Given the description of an element on the screen output the (x, y) to click on. 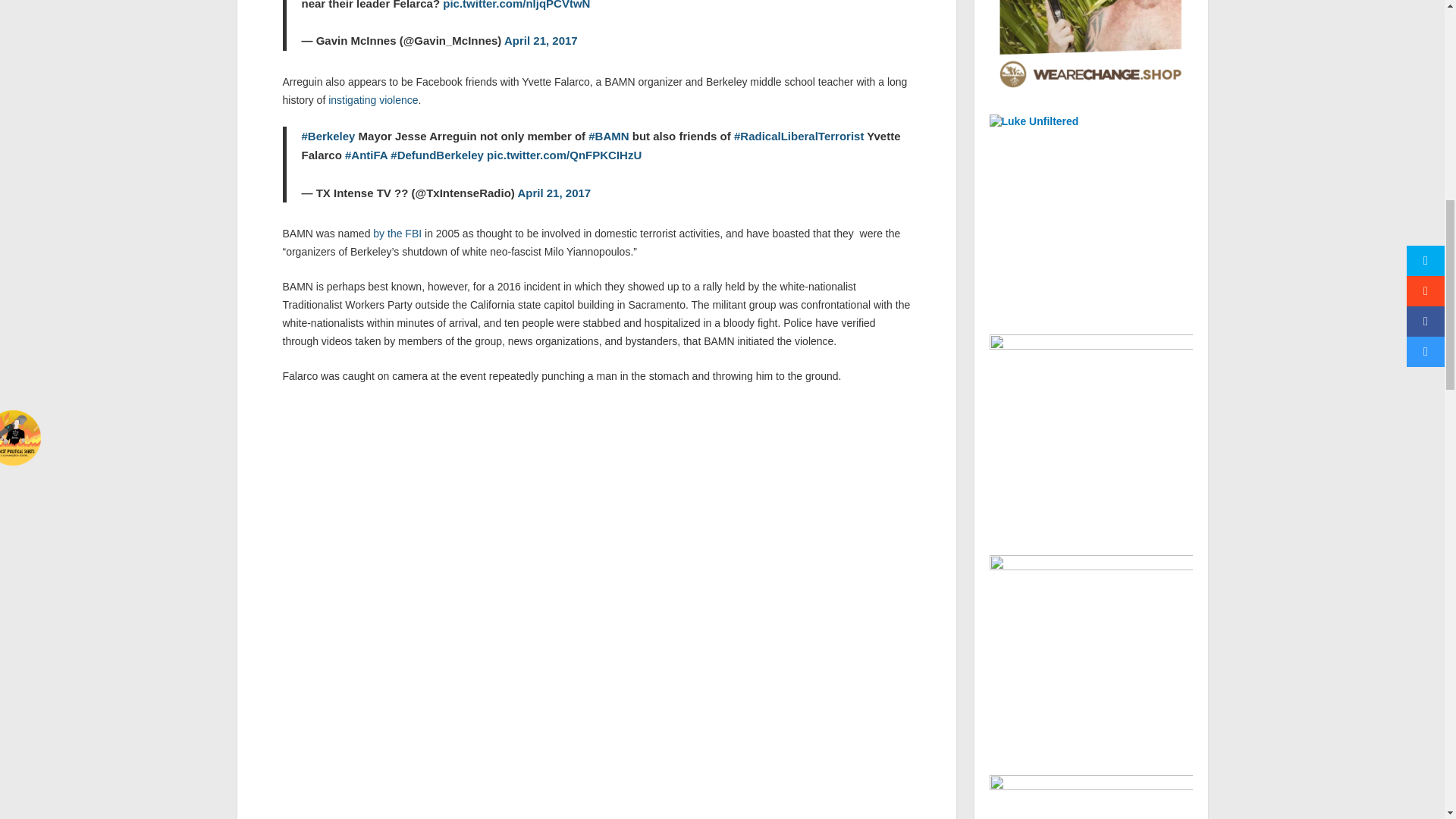
instigating violence (373, 100)
April 21, 2017 (540, 40)
